Given the description of an element on the screen output the (x, y) to click on. 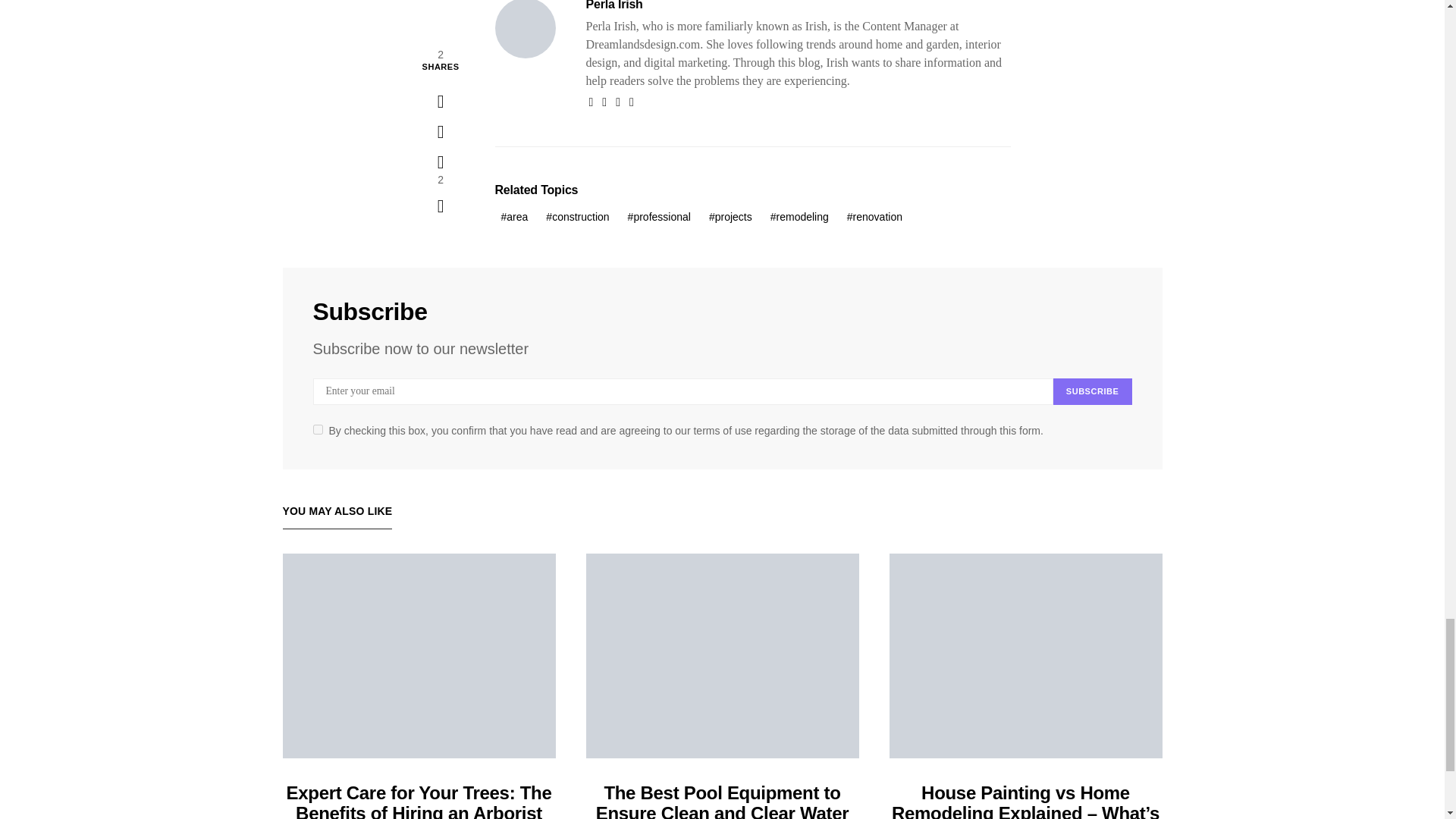
on (317, 429)
